Given the description of an element on the screen output the (x, y) to click on. 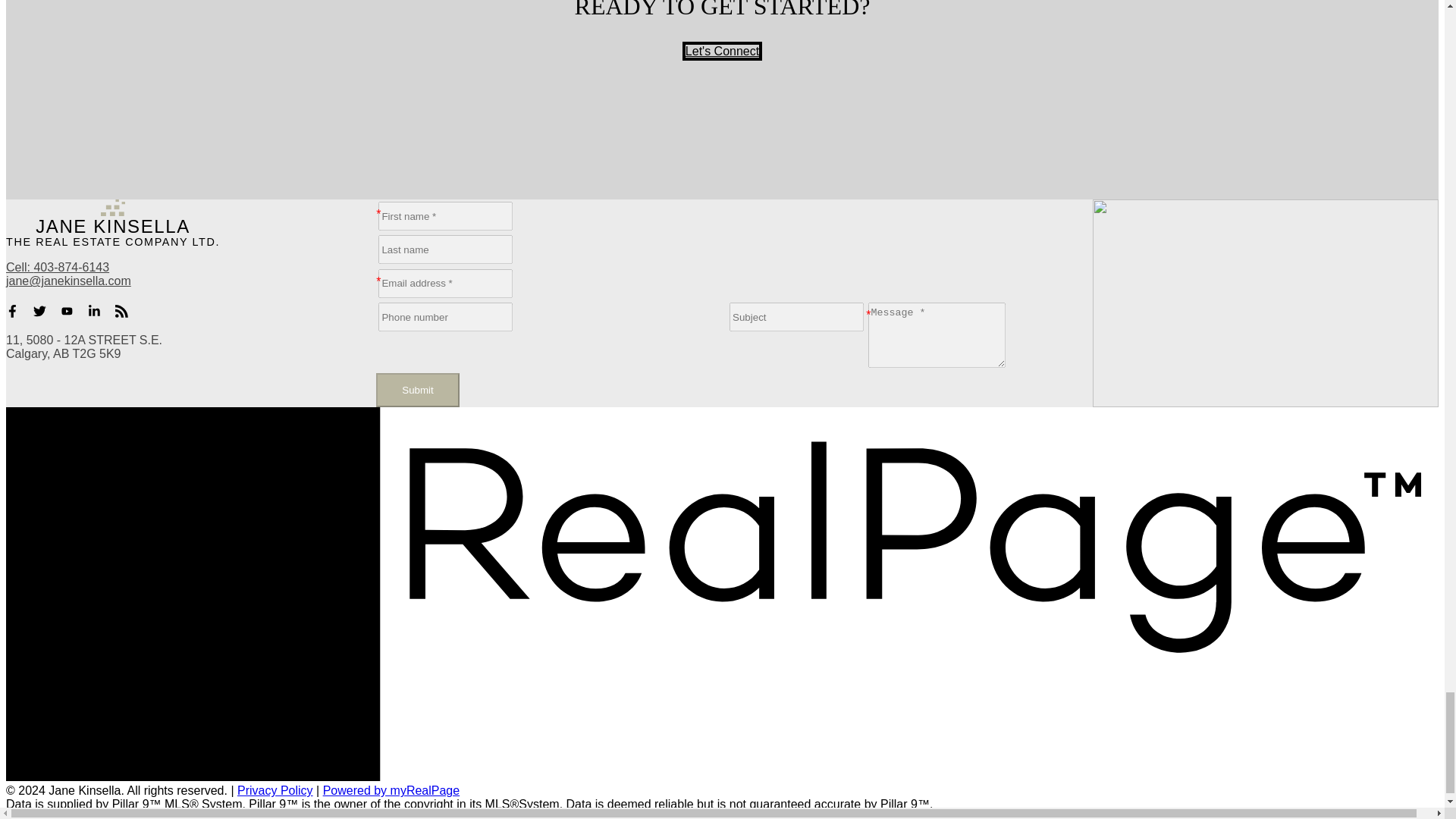
Twitter (44, 310)
linkedin (98, 310)
Youtube (71, 310)
Blog (125, 310)
Facebook (16, 310)
